Given the description of an element on the screen output the (x, y) to click on. 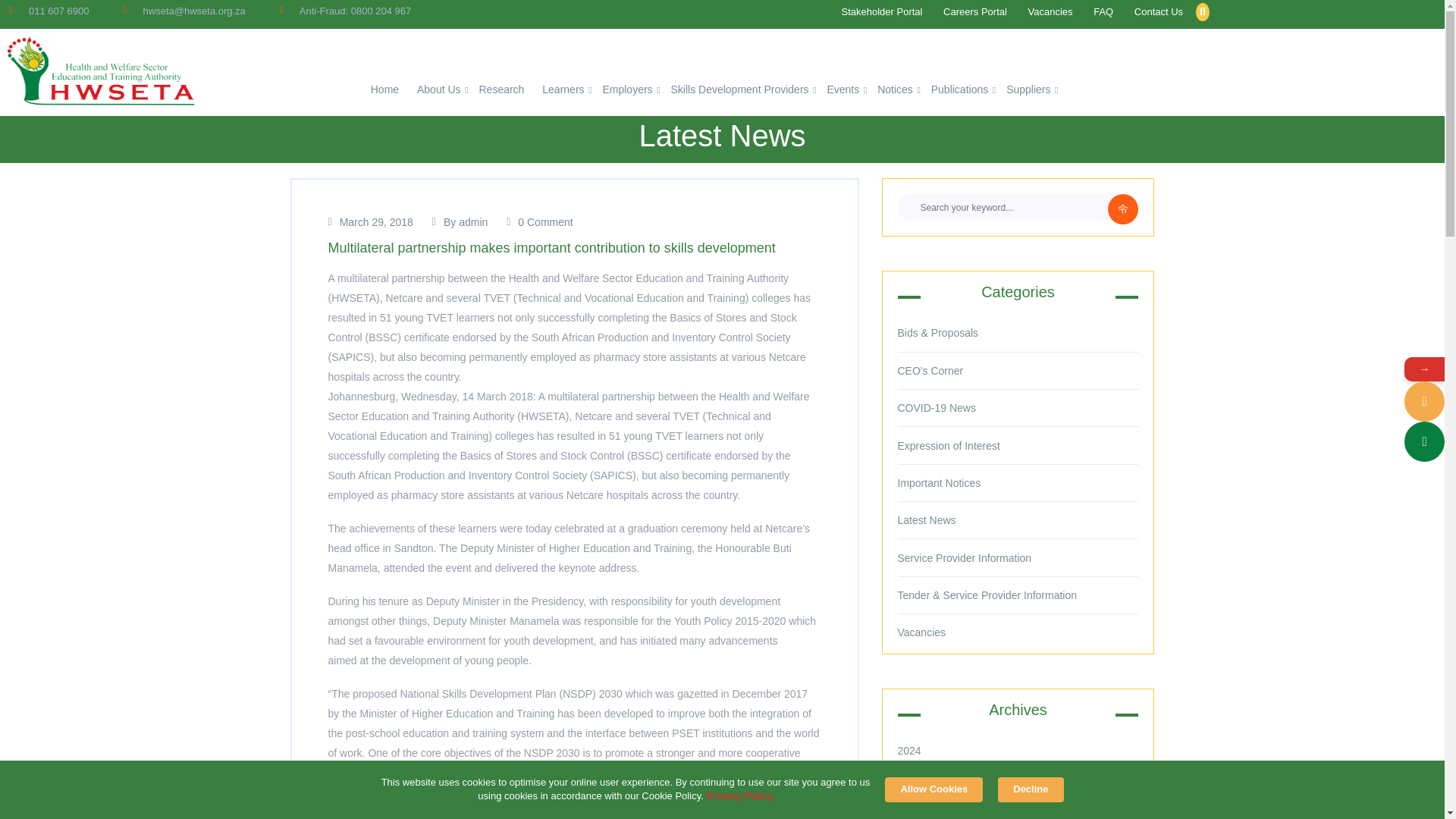
Careers Portal (975, 11)
Contact Us (1158, 11)
Learners (562, 90)
Research (501, 90)
Skills Development Providers (738, 90)
FAQ (1103, 11)
Vacancies (1050, 11)
Stakeholder Portal (881, 11)
Employers (627, 90)
Home (384, 90)
011 607 6900 (1424, 401)
About Us (438, 90)
